Given the description of an element on the screen output the (x, y) to click on. 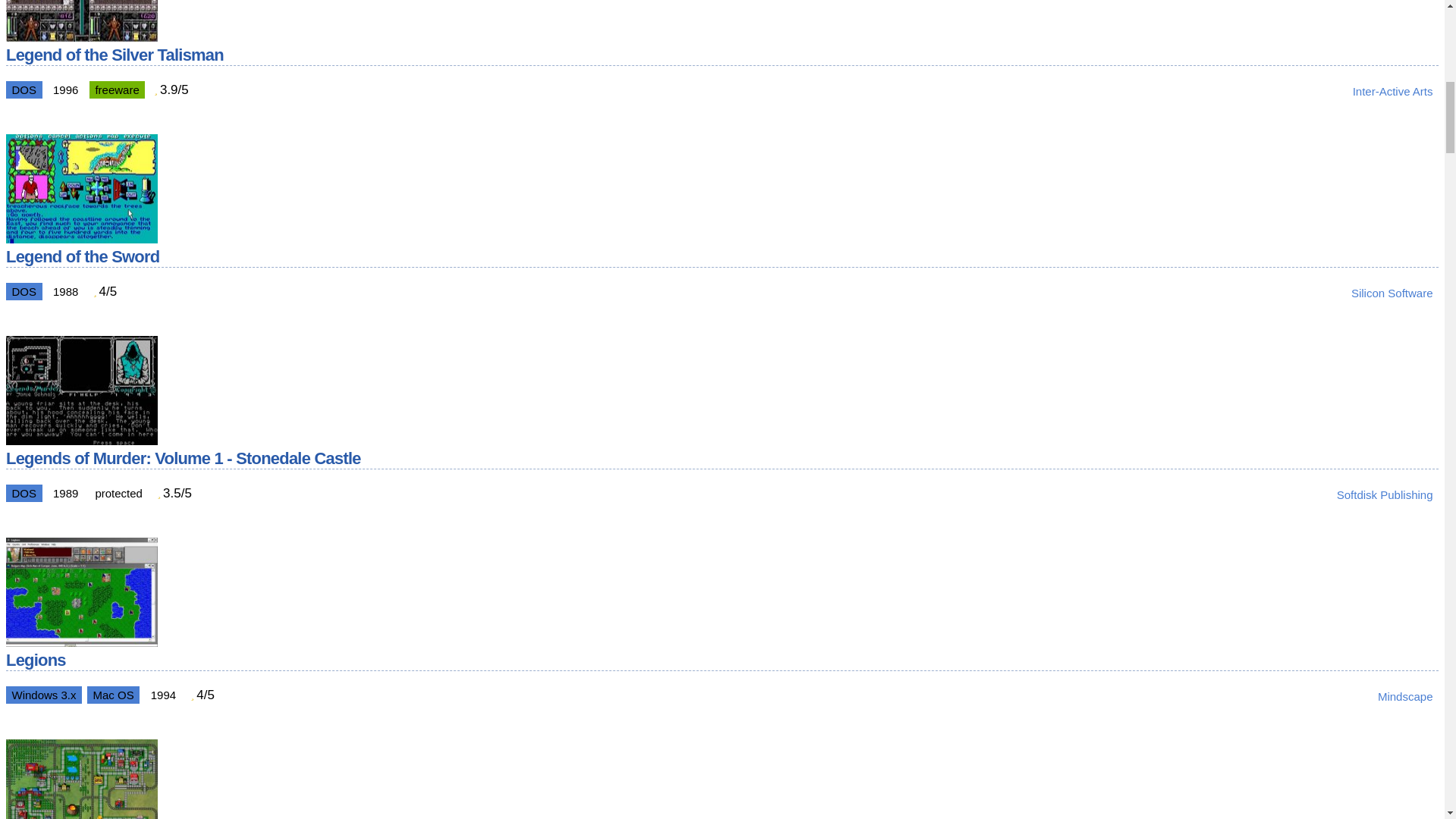
Legions (81, 642)
Legend of the Sword (81, 238)
Legends of Murder: Volume 1 - Stonedale Castle (81, 440)
Legend of the Silver Talisman (81, 37)
